Given the description of an element on the screen output the (x, y) to click on. 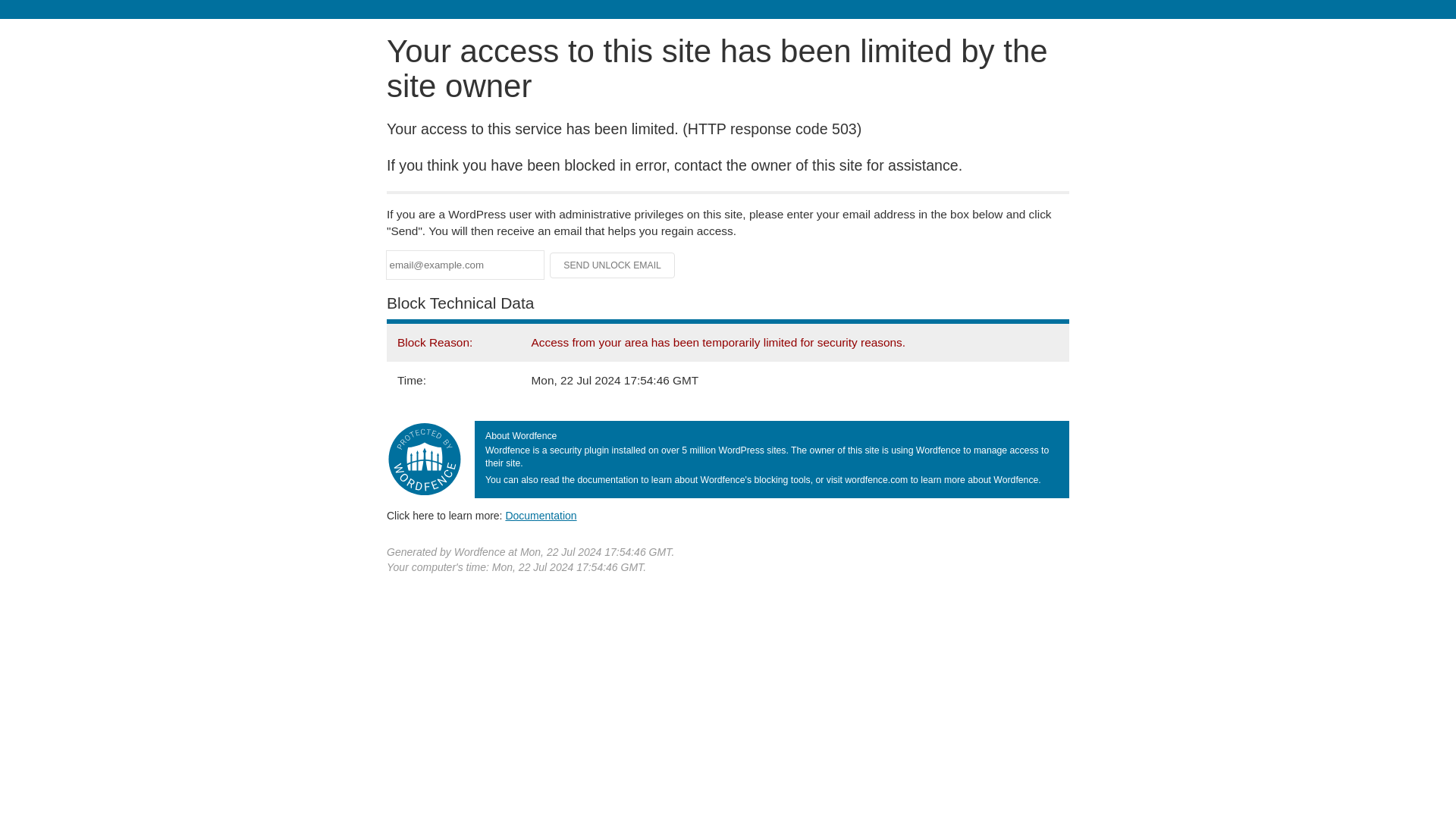
Send Unlock Email (612, 265)
Send Unlock Email (612, 265)
Documentation (540, 515)
